Given the description of an element on the screen output the (x, y) to click on. 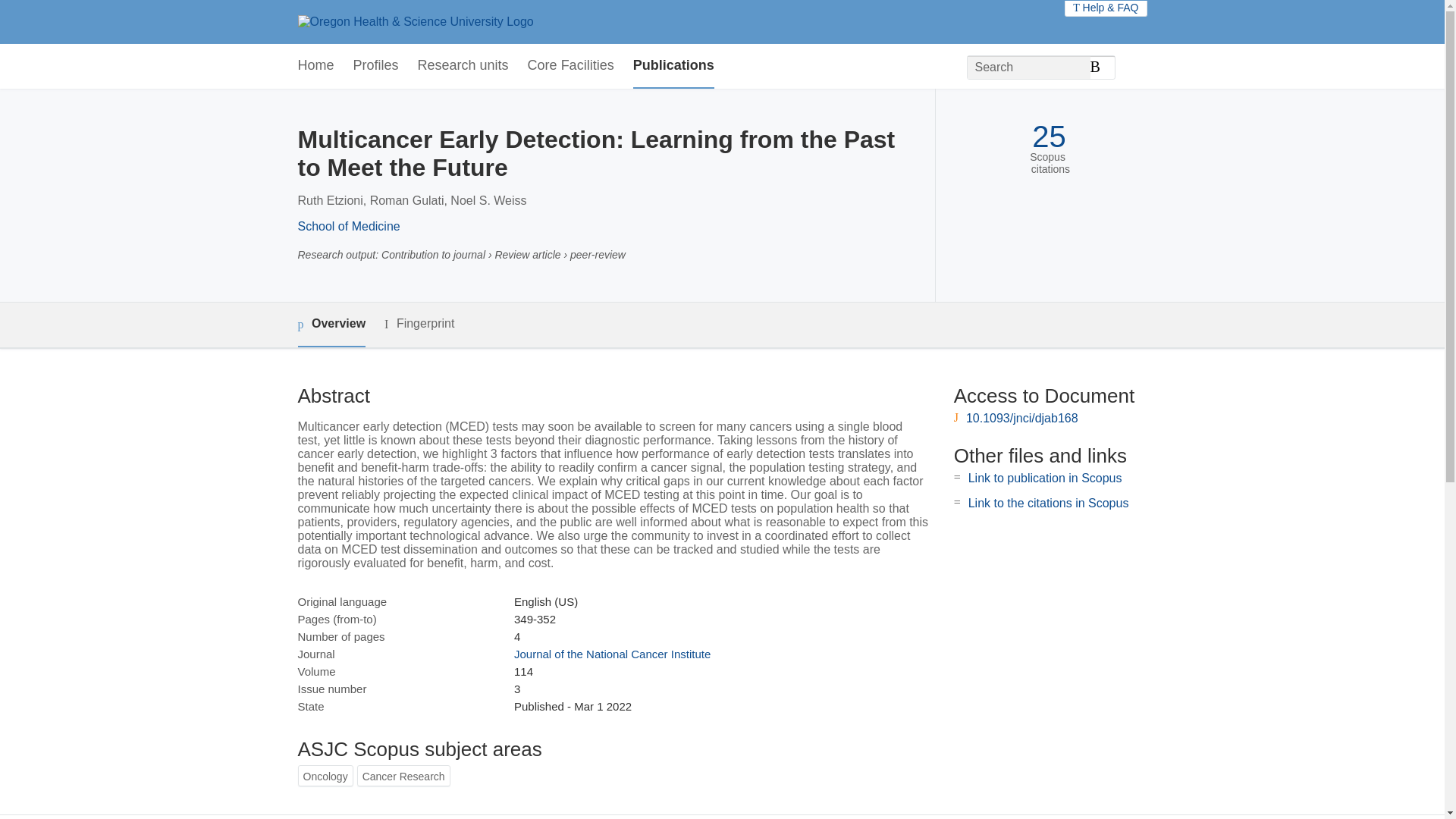
25 (1048, 136)
Research units (462, 66)
Publications (673, 66)
Link to publication in Scopus (1045, 477)
Link to the citations in Scopus (1048, 502)
Core Facilities (570, 66)
Overview (331, 324)
Journal of the National Cancer Institute (611, 653)
Profiles (375, 66)
